Given the description of an element on the screen output the (x, y) to click on. 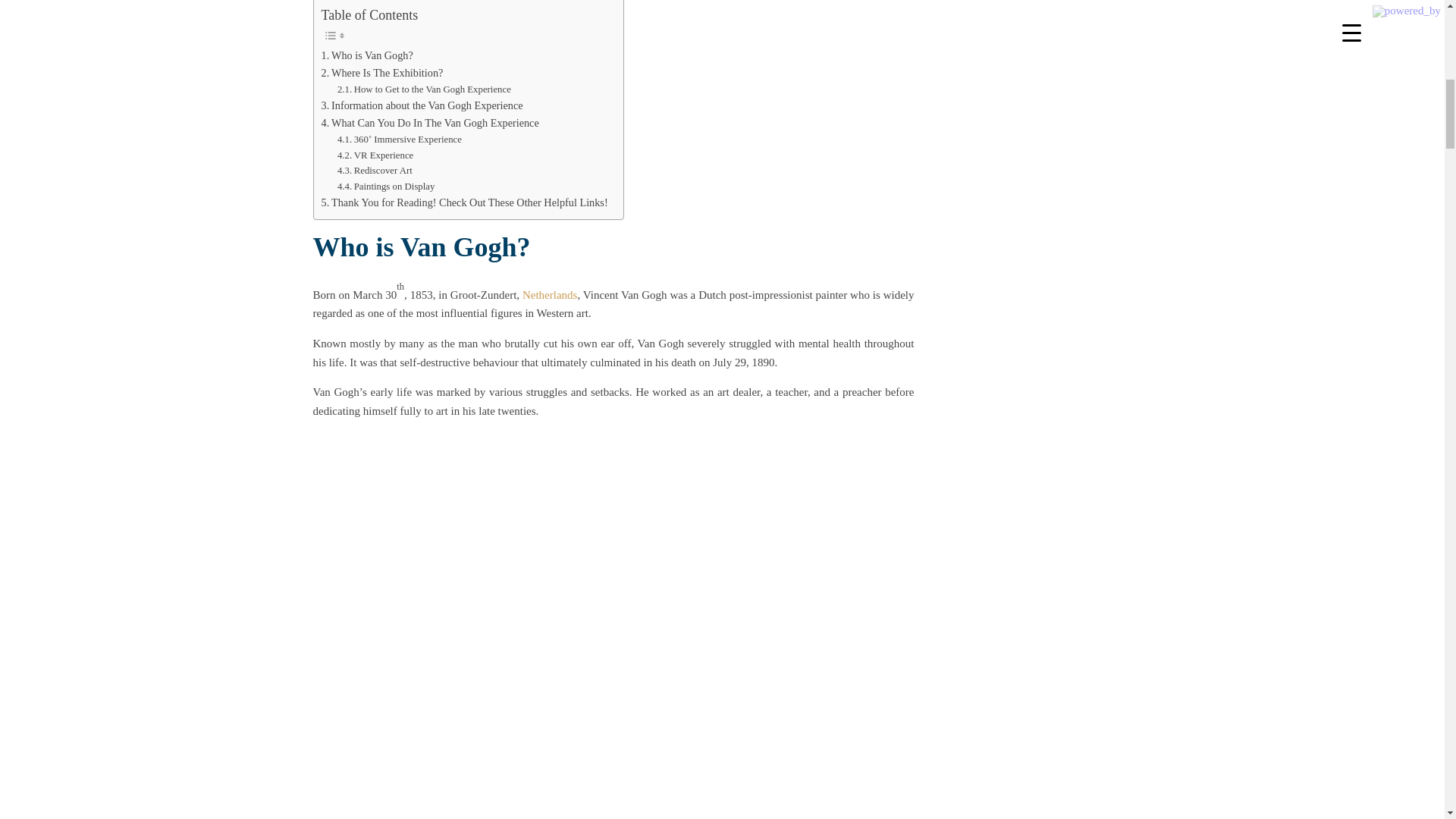
Thank You for Reading! Check Out These Other Helpful Links! (464, 202)
VR Experience (375, 155)
Who is Van Gogh? (367, 55)
Where Is The Exhibition? (382, 72)
How to Get to the Van Gogh Experience (424, 89)
What Can You Do In The Van Gogh Experience (429, 122)
Information about the Van Gogh Experience (421, 105)
Rediscover Art (374, 170)
Paintings on Display (386, 186)
